Given the description of an element on the screen output the (x, y) to click on. 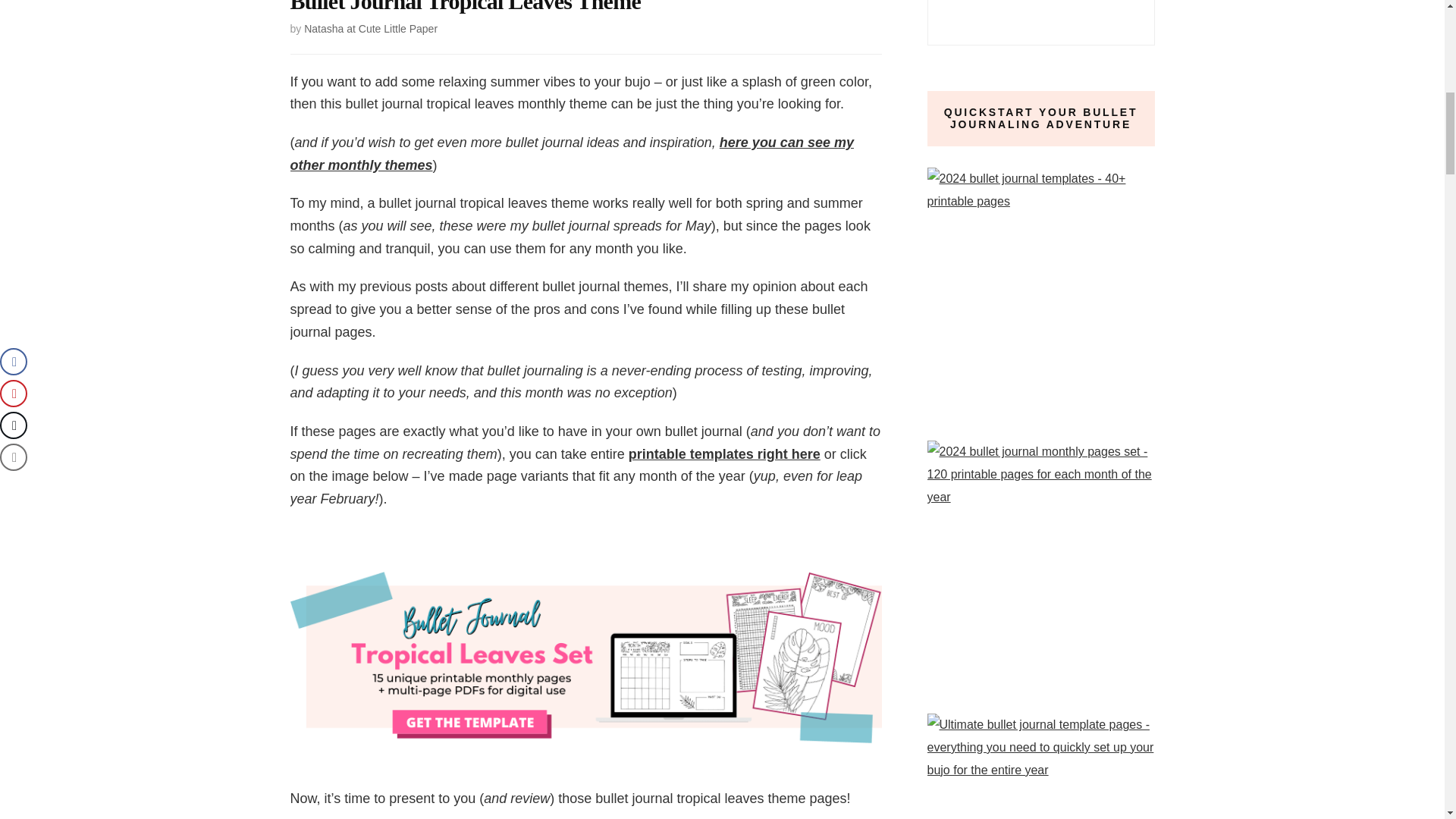
Natasha at Cute Little Paper (371, 28)
printable templates right here (724, 453)
here you can see my other monthly themes (571, 153)
